Given the description of an element on the screen output the (x, y) to click on. 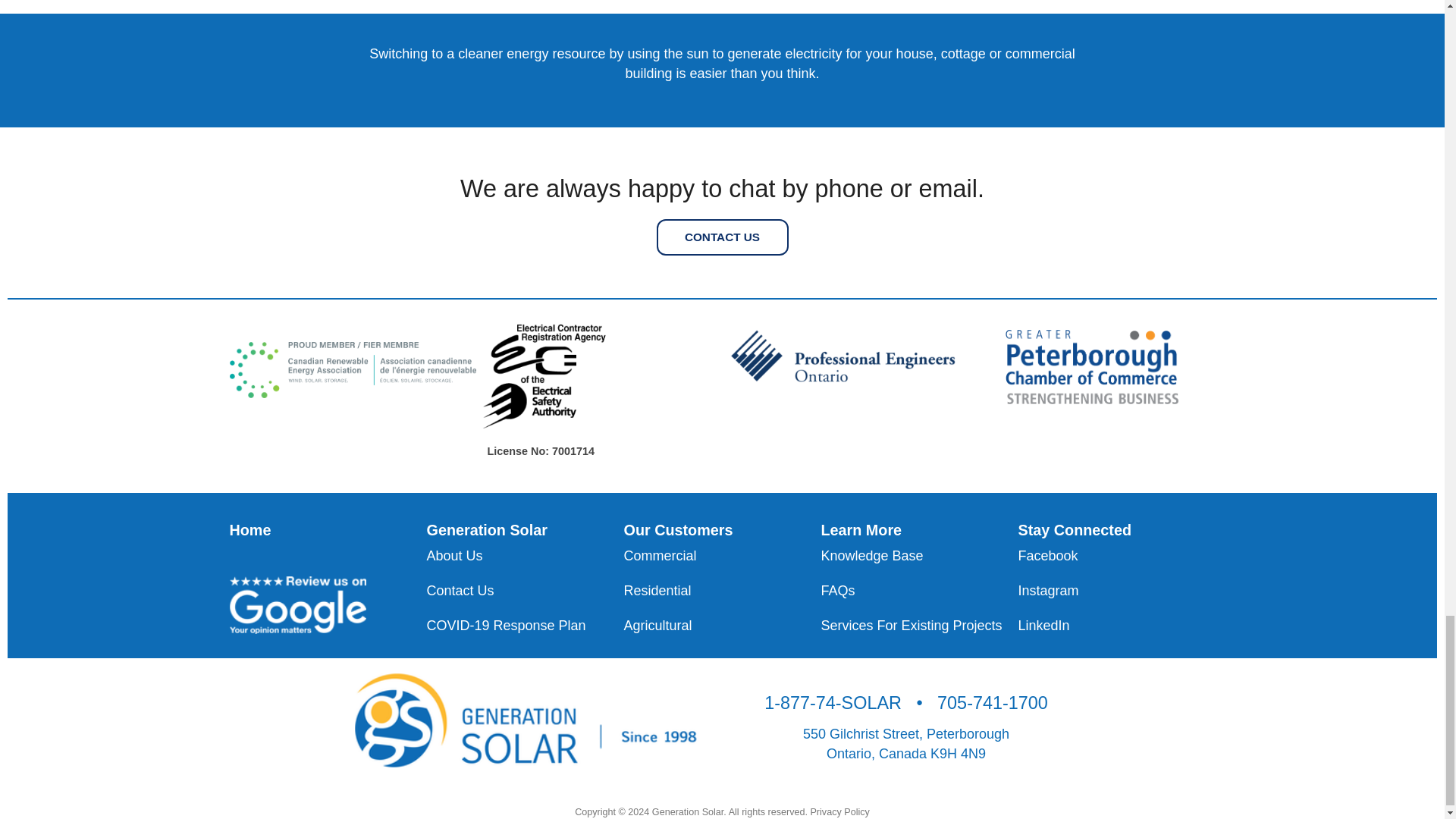
Contact Us (524, 590)
Residential (722, 590)
About Us (524, 555)
Home (249, 529)
Instagram (1115, 590)
CONTACT US (722, 237)
Privacy Policy (839, 811)
FAQs (919, 590)
Facebook (1115, 555)
LinkedIn (1115, 625)
Commercial (722, 555)
Services For Existing Projects (919, 625)
Agricultural (722, 625)
Knowledge Base (919, 555)
COVID-19 Response Plan (524, 625)
